Given the description of an element on the screen output the (x, y) to click on. 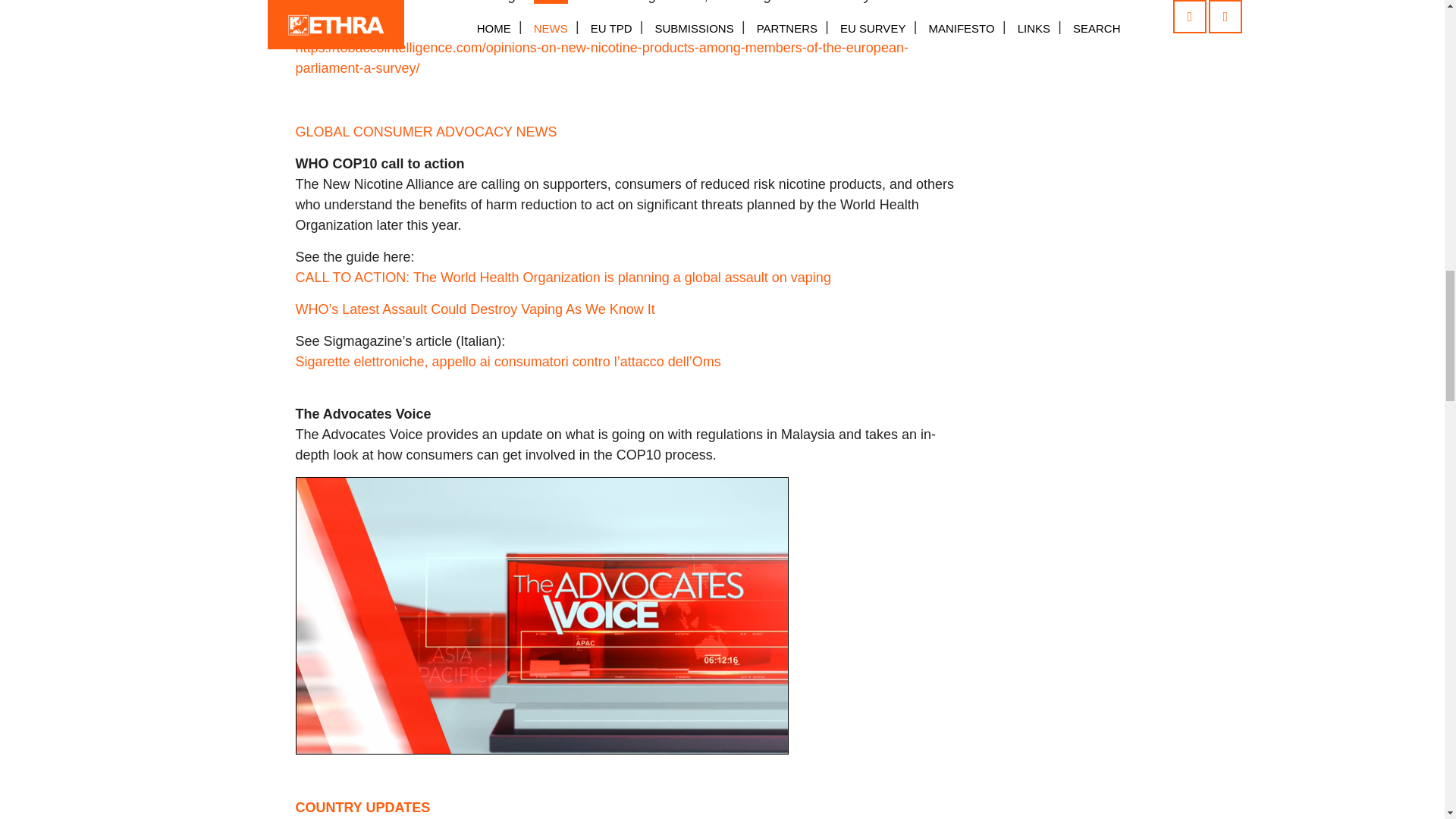
GLOBAL CONSUMER ADVOCACY NEWS (426, 131)
COUNTRY UPDATES    (368, 807)
